Given the description of an element on the screen output the (x, y) to click on. 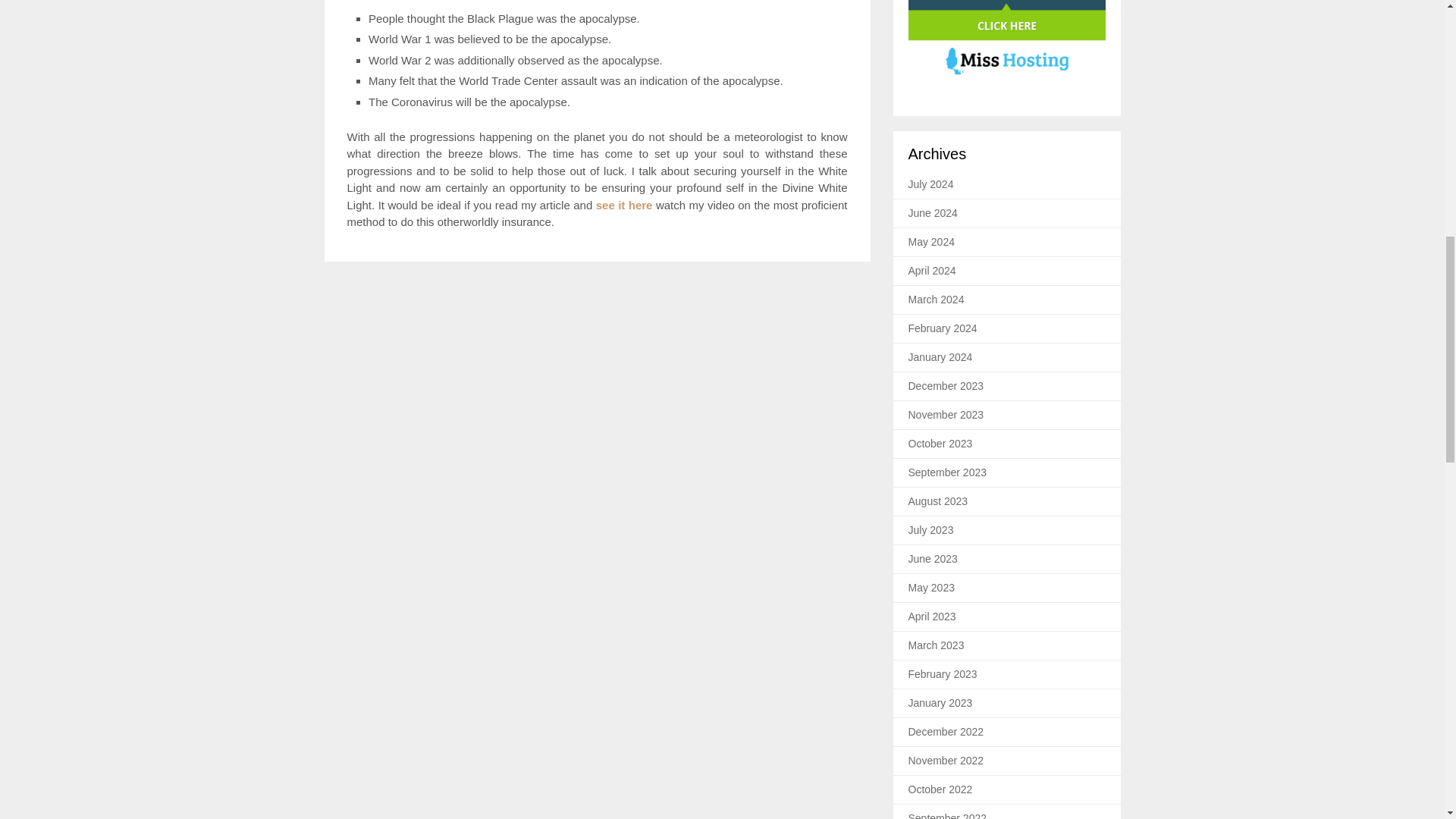
April 2023 (932, 616)
June 2023 (933, 558)
December 2023 (946, 386)
January 2023 (940, 702)
August 2023 (938, 500)
February 2023 (942, 674)
May 2024 (931, 241)
May 2023 (931, 587)
April 2024 (932, 270)
October 2022 (940, 788)
July 2023 (930, 530)
September 2023 (947, 472)
June 2024 (933, 213)
December 2022 (946, 731)
March 2024 (935, 299)
